Given the description of an element on the screen output the (x, y) to click on. 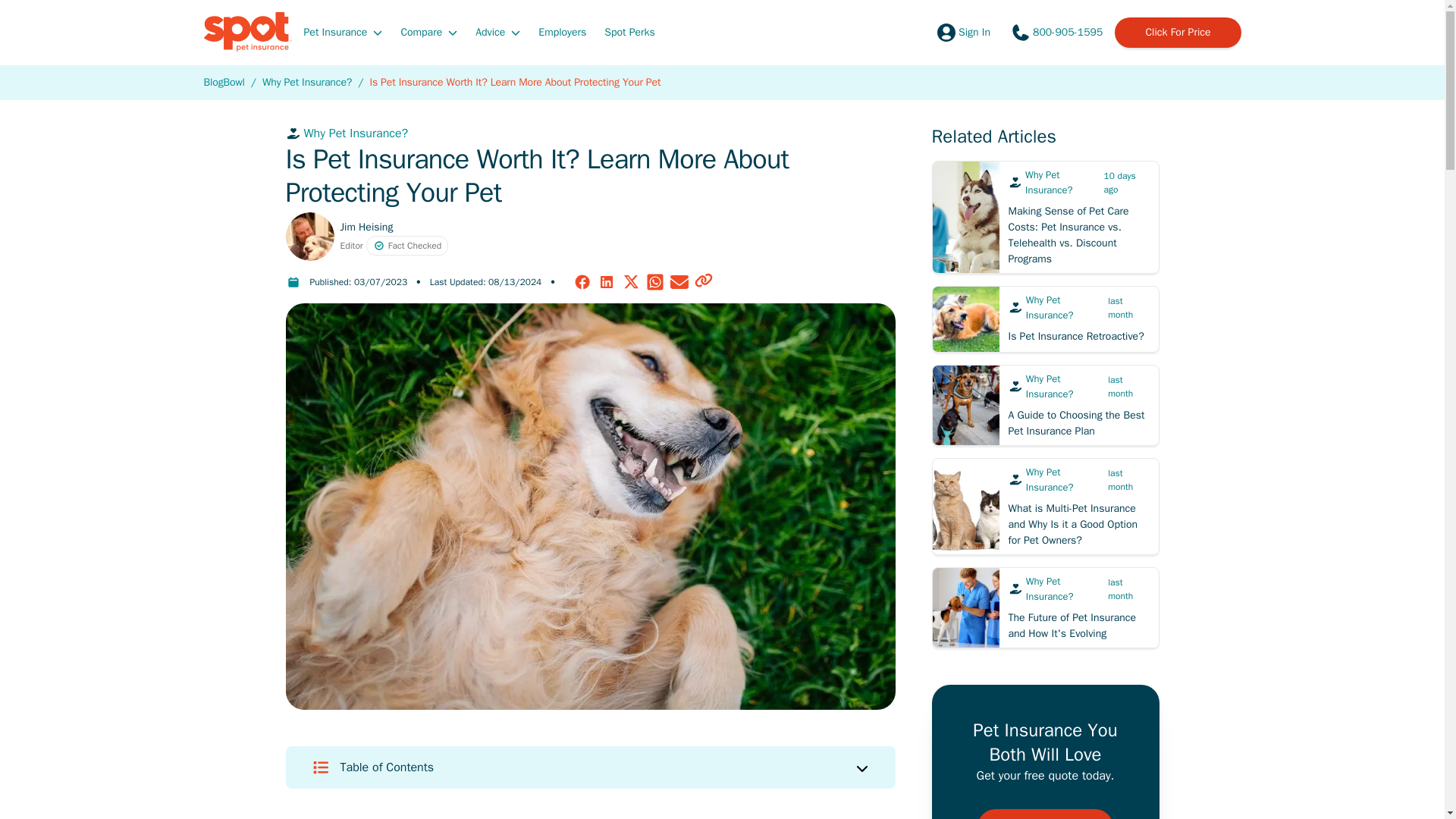
Employers (562, 31)
Table of Contents (590, 767)
Why Pet Insurance? (590, 133)
Click For Price (1177, 31)
800-905-1595 (1055, 31)
800-905-1595 (1055, 31)
The Future of Pet Insurance and How It's Evolving  (1044, 607)
BlogBowl (223, 82)
